Given the description of an element on the screen output the (x, y) to click on. 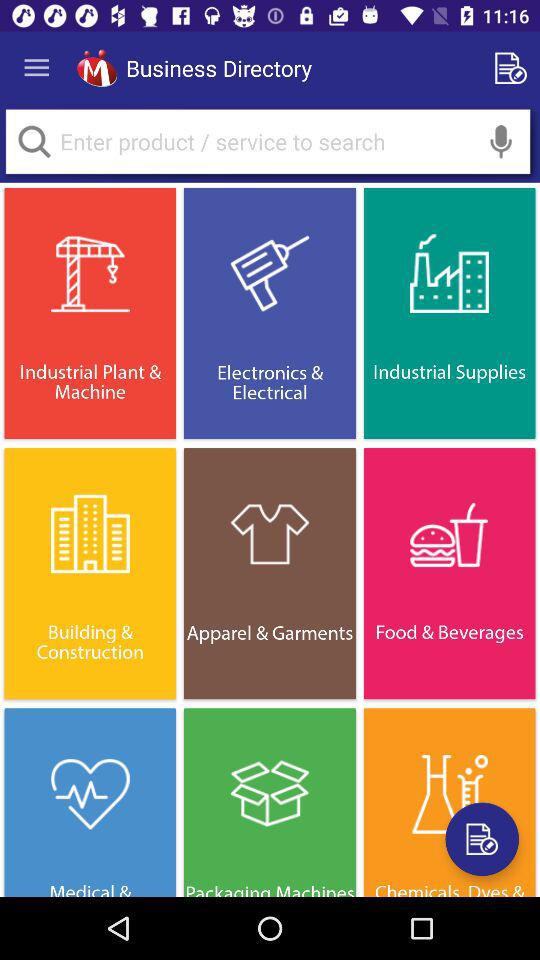
search (34, 141)
